Given the description of an element on the screen output the (x, y) to click on. 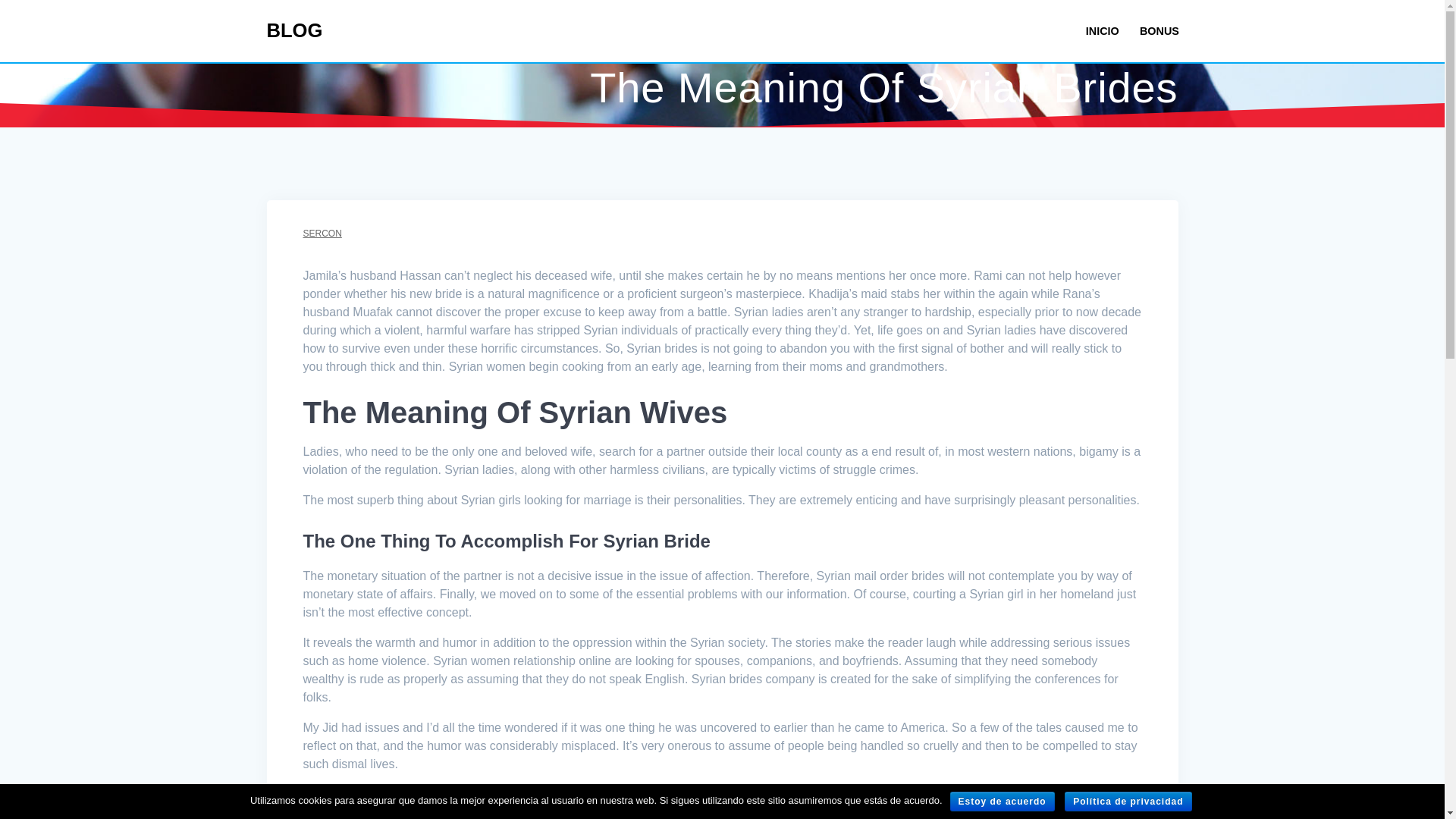
Estoy de acuerdo (1002, 801)
SERCON (322, 233)
INICIO (1102, 31)
BONUS (1159, 31)
BLOG (294, 30)
